Given the description of an element on the screen output the (x, y) to click on. 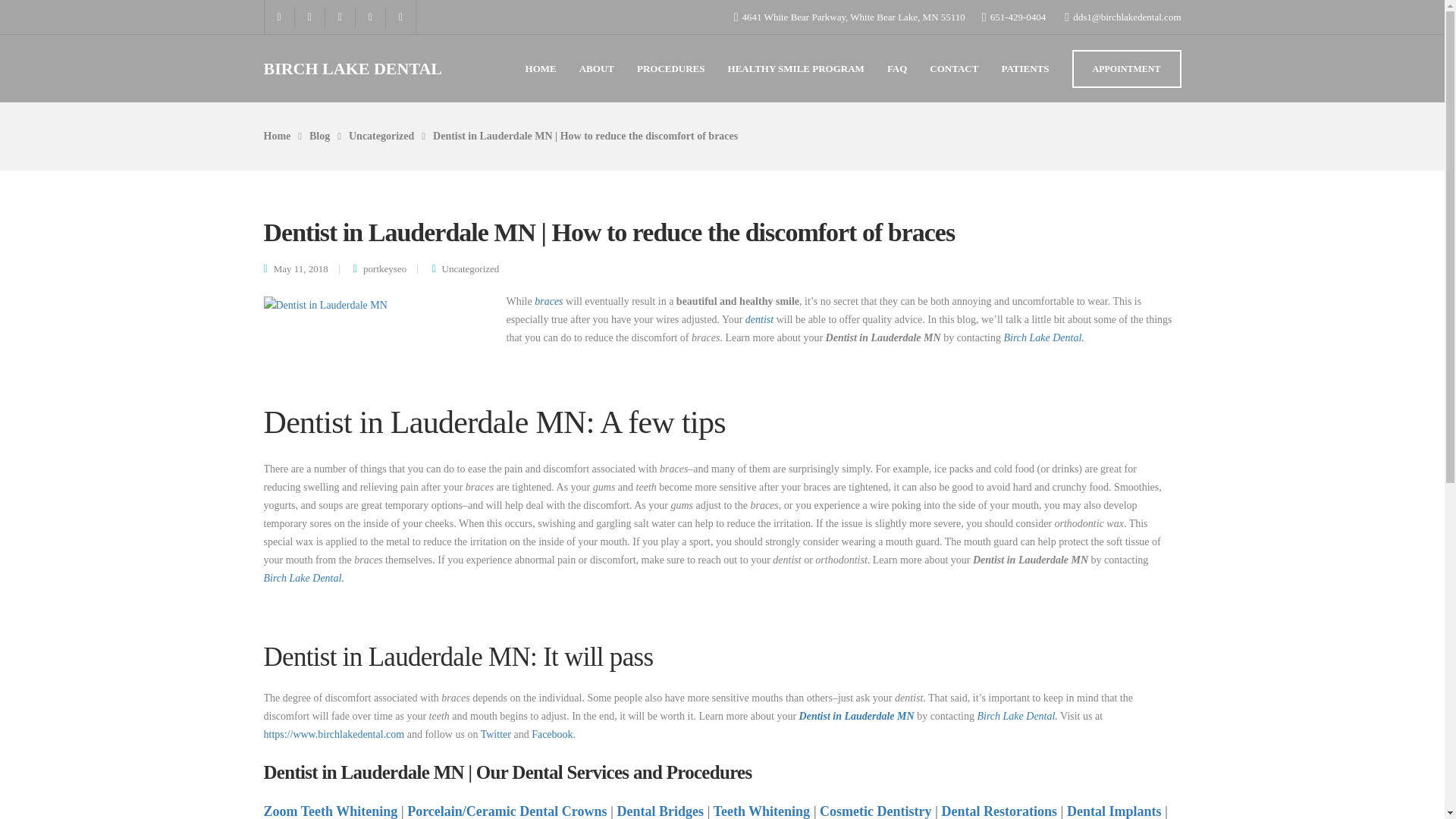
PATIENTS (1024, 67)
FAQ (896, 67)
HEALTHY SMILE PROGRAM (796, 67)
Uncategorized (381, 135)
Healthy Smile Program (796, 67)
Home (277, 135)
CONTACT (954, 67)
Blog (319, 135)
FAQ (896, 67)
APPOINTMENT (1125, 68)
HOME (540, 67)
Procedures (670, 67)
About (596, 67)
PROCEDURES (670, 67)
651-429-0404 (1018, 16)
